Given the description of an element on the screen output the (x, y) to click on. 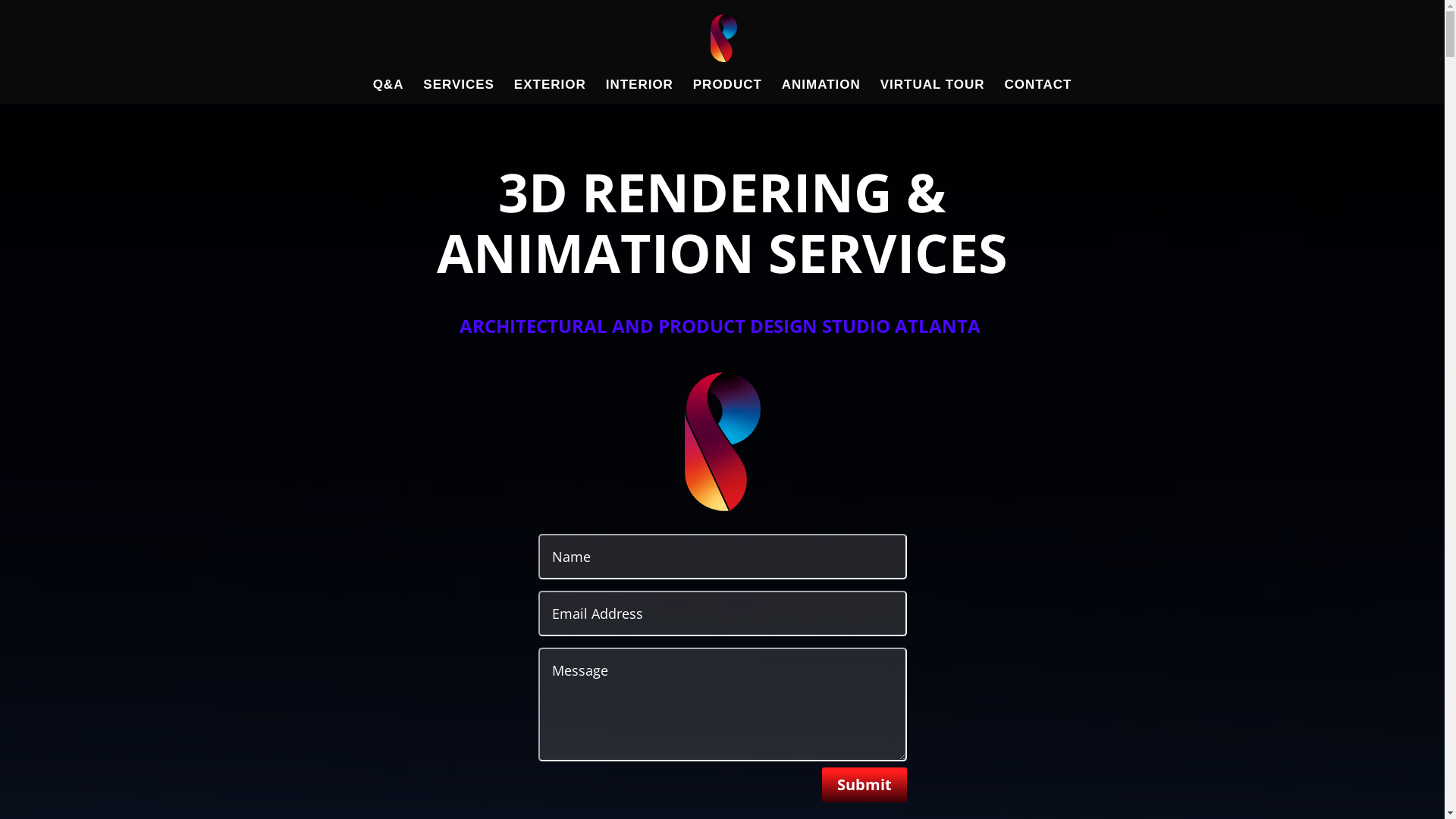
EXTERIOR Element type: text (550, 91)
VIRTUAL TOUR Element type: text (932, 91)
Submit Element type: text (864, 784)
PRODUCT Element type: text (727, 91)
ANIMATION Element type: text (820, 91)
SERVICES Element type: text (458, 91)
INTERIOR Element type: text (639, 91)
Q&A Element type: text (388, 91)
CONTACT Element type: text (1038, 91)
